Given the description of an element on the screen output the (x, y) to click on. 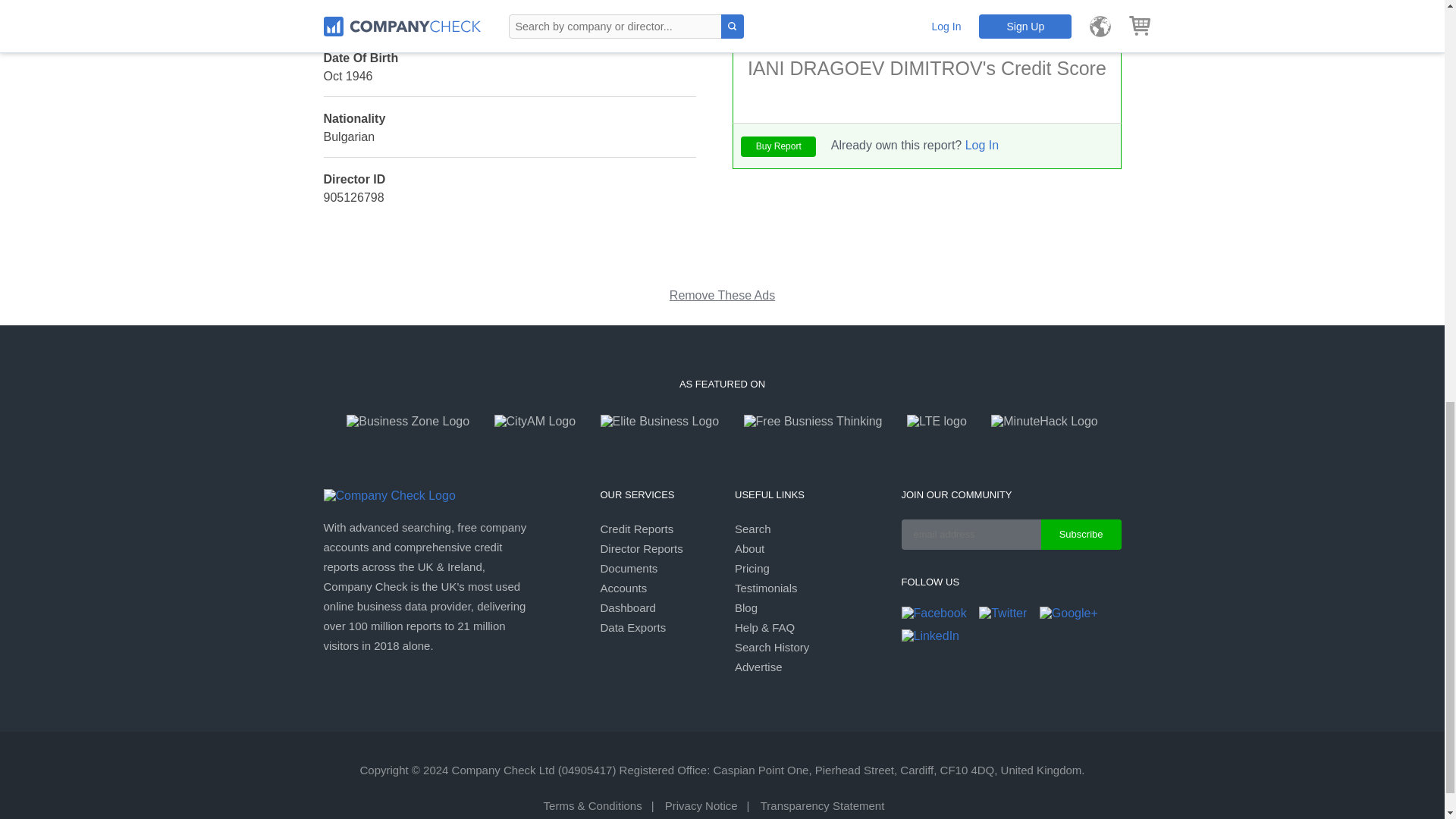
Subscribe (1081, 534)
